Given the description of an element on the screen output the (x, y) to click on. 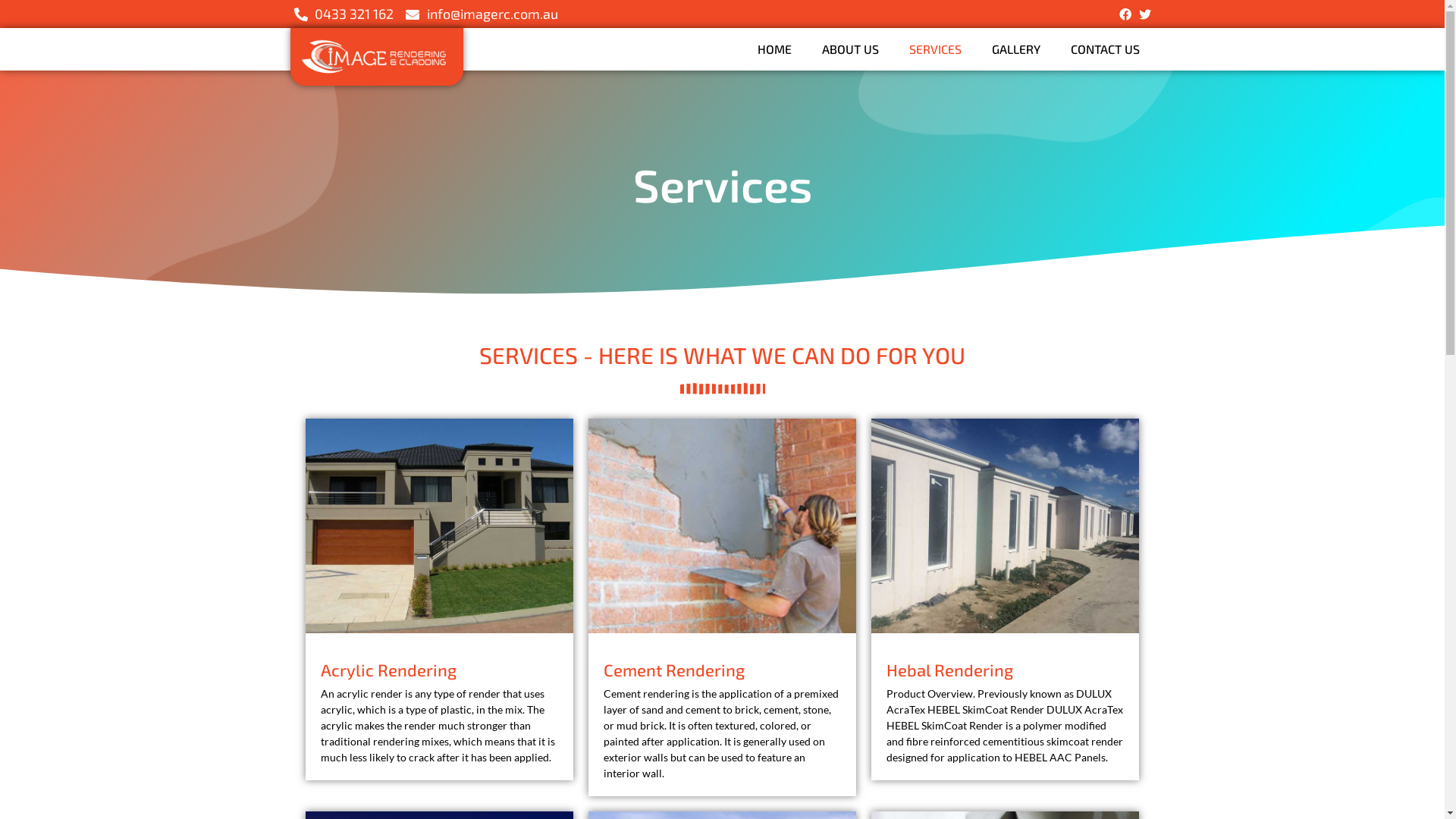
info@imagerc.com.au Element type: text (481, 13)
GALLERY Element type: text (1015, 49)
ABOUT US Element type: text (850, 49)
CONTACT US Element type: text (1104, 49)
0433 321 162 Element type: text (344, 13)
HOME Element type: text (773, 49)
SERVICES Element type: text (934, 49)
